Given the description of an element on the screen output the (x, y) to click on. 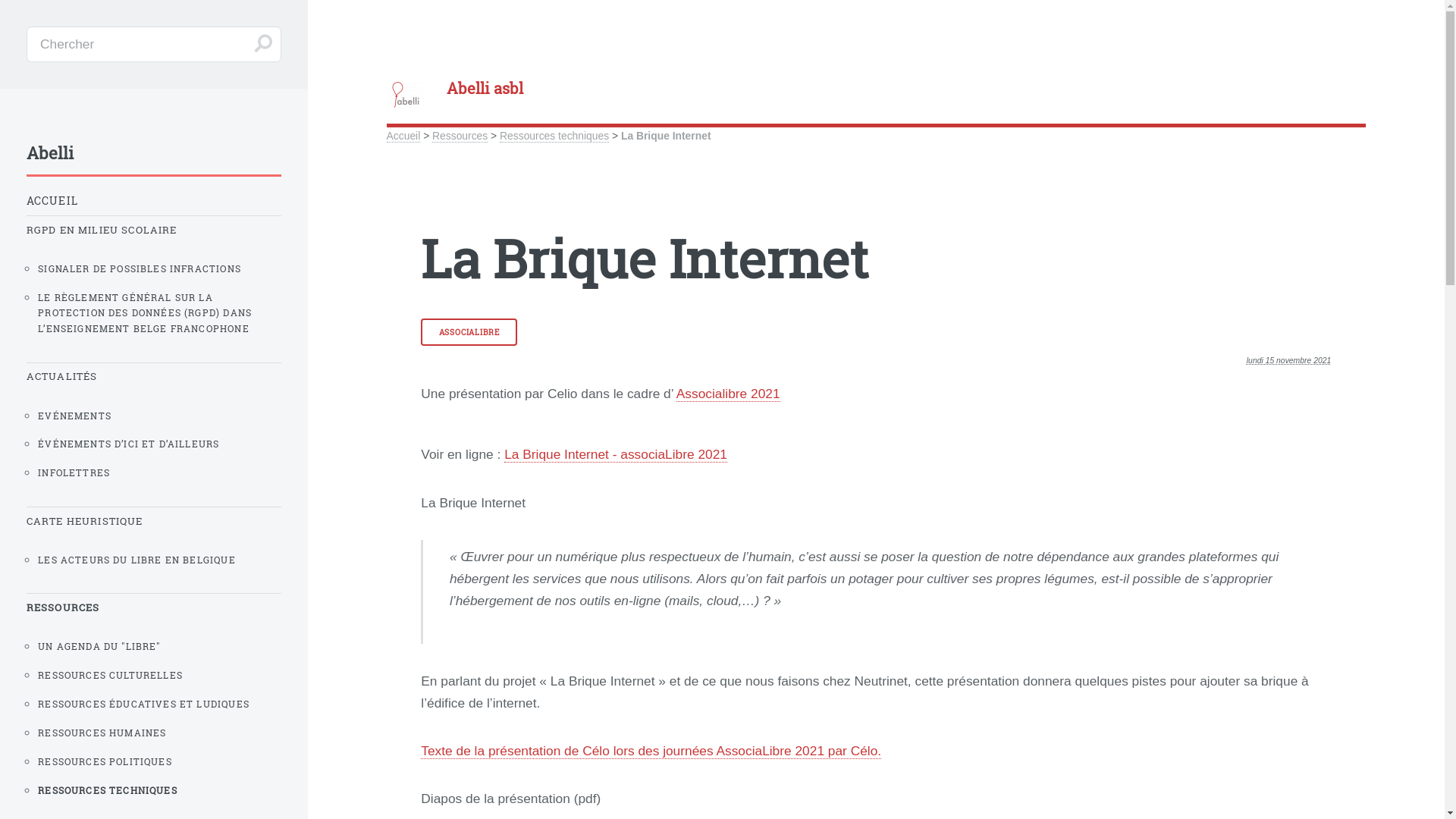
RESSOURCES POLITIQUES Element type: text (159, 761)
Accueil Element type: text (403, 135)
ACCUEIL Element type: text (153, 200)
Ressources techniques Element type: text (553, 135)
RGPD EN MILIEU SCOLAIRE Element type: text (153, 230)
INFOLETTRES Element type: text (159, 472)
RESSOURCES Element type: text (153, 607)
Abelli asbl Element type: text (875, 87)
UN AGENDA DU "LIBRE" Element type: text (159, 646)
RESSOURCES CULTURELLES Element type: text (159, 675)
LES ACTEURS DU LIBRE EN BELGIQUE Element type: text (159, 559)
RESSOURCES HUMAINES Element type: text (159, 732)
Ressources Element type: text (459, 135)
ASSOCIALIBRE Element type: text (468, 331)
CARTE HEURISTIQUE Element type: text (153, 521)
SIGNALER DE POSSIBLES INFRACTIONS Element type: text (159, 268)
La Brique Internet - associaLibre 2021 Element type: text (615, 454)
Associalibre 2021 Element type: text (728, 393)
RESSOURCES TECHNIQUES Element type: text (159, 790)
